Given the description of an element on the screen output the (x, y) to click on. 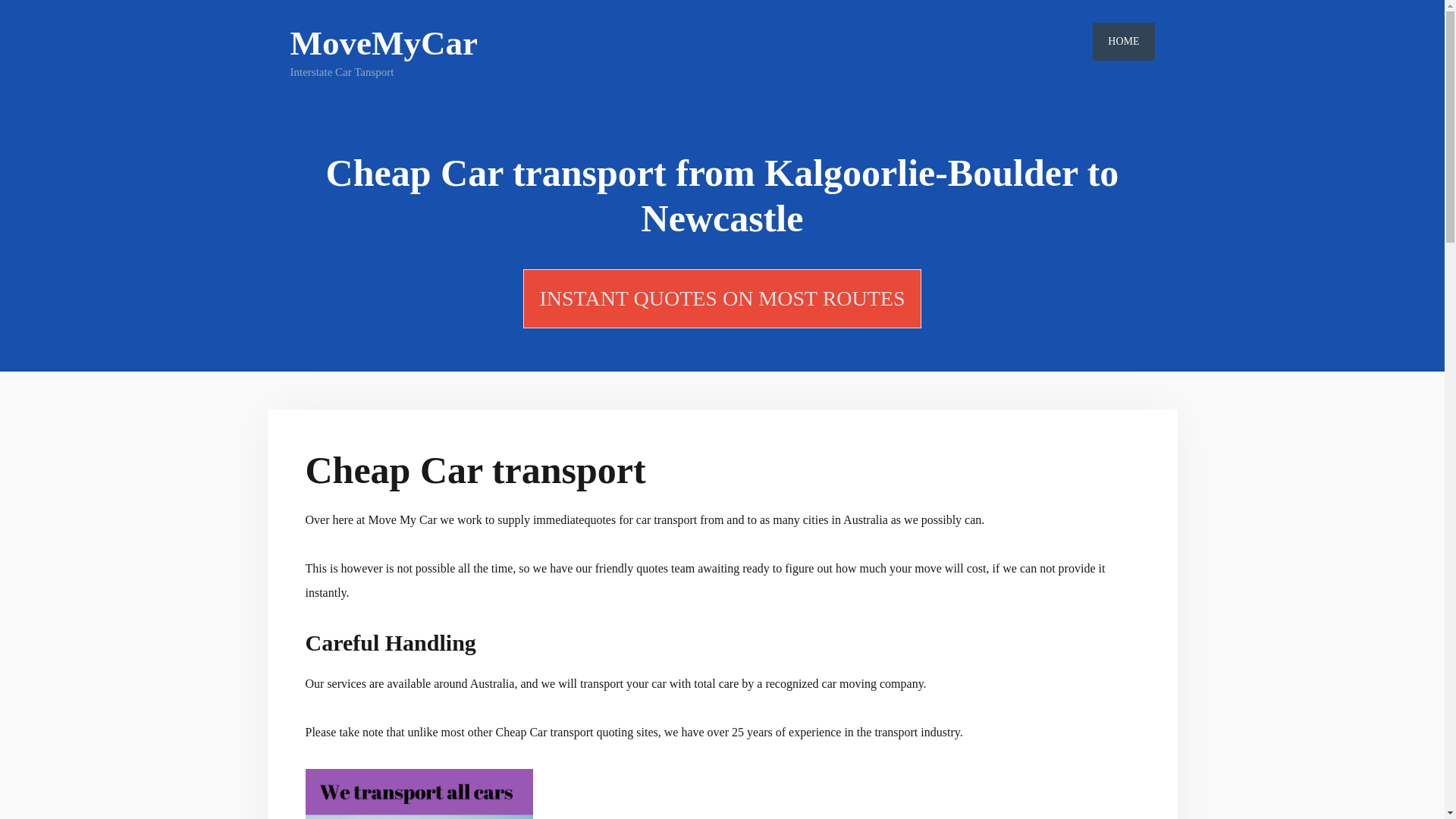
INSTANT QUOTES ON MOST ROUTES Element type: text (721, 298)
MoveMyCar Element type: text (382, 43)
HOME Element type: text (1123, 41)
